Given the description of an element on the screen output the (x, y) to click on. 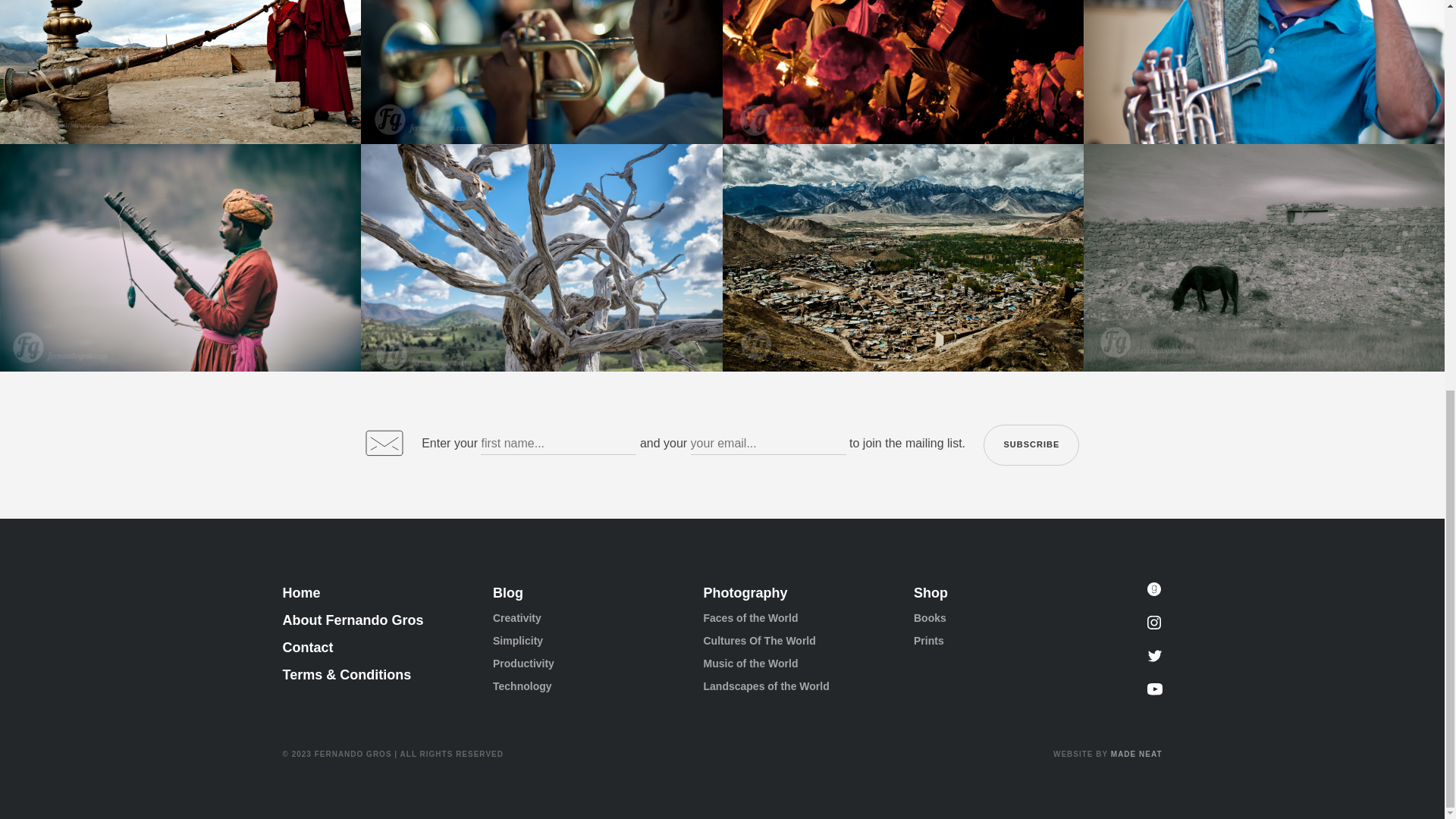
Subscribe (1031, 445)
